Given the description of an element on the screen output the (x, y) to click on. 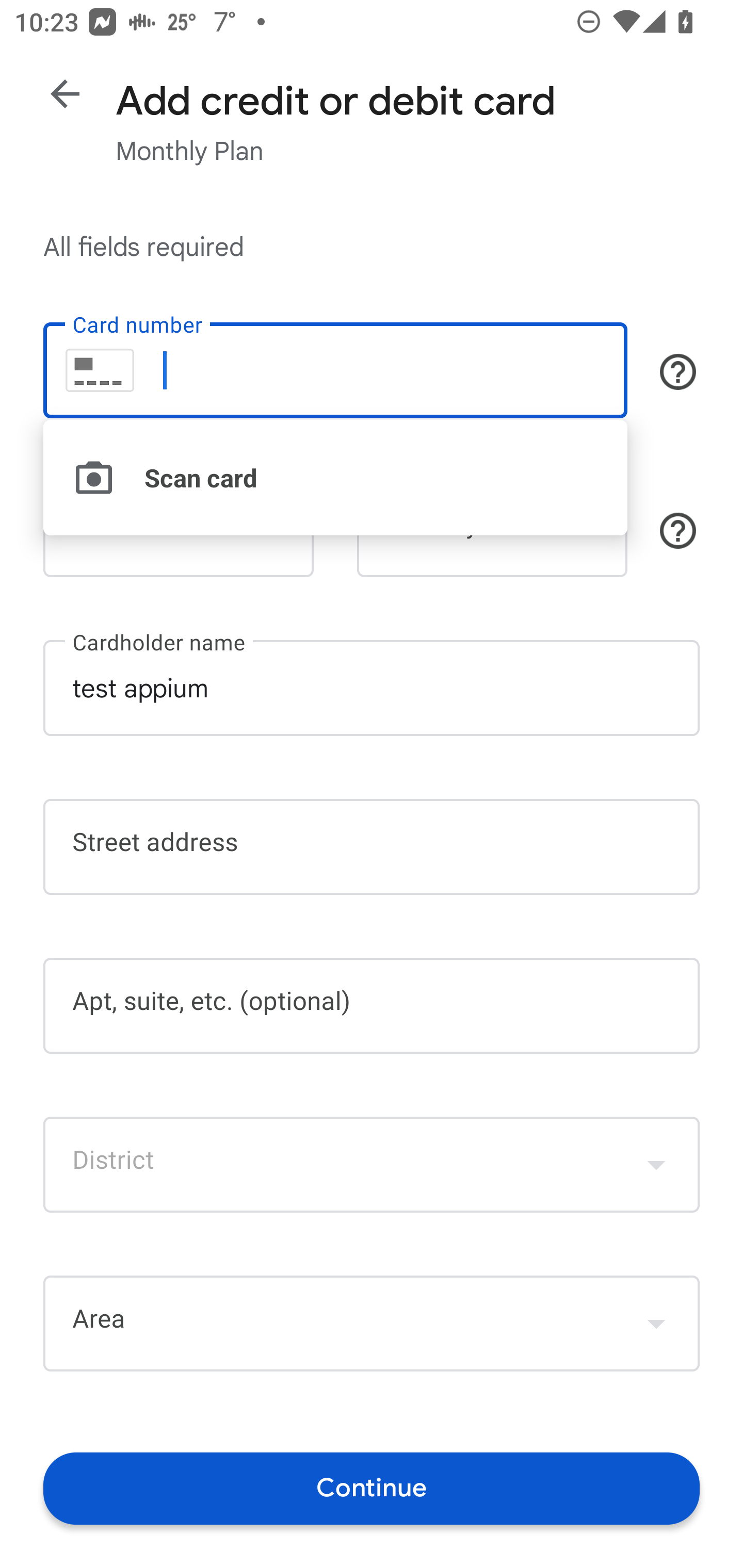
Back (64, 93)
Card number (335, 370)
Button, shows cards that are accepted for payment (677, 371)
Security code help (677, 530)
test appium (371, 687)
Street address (371, 847)
Apt, suite, etc. (optional) (371, 1005)
District (371, 1164)
Show dropdown menu (655, 1164)
Area (371, 1323)
Show dropdown menu (655, 1323)
Continue (371, 1487)
